Given the description of an element on the screen output the (x, y) to click on. 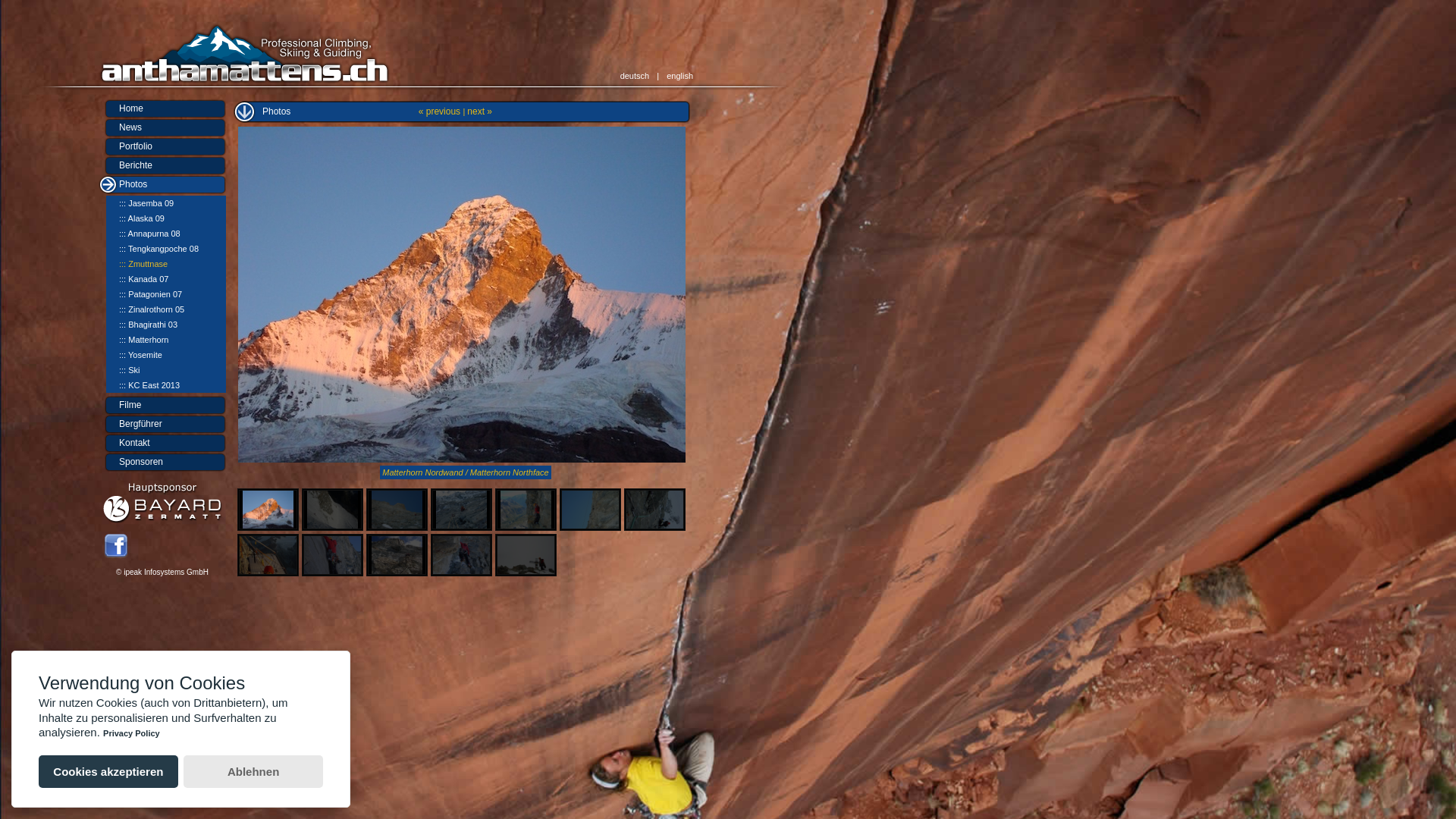
Portfolio Element type: text (125, 146)
Home Element type: text (161, 108)
english Element type: text (679, 75)
::: Kanada 07 Element type: text (133, 278)
Filme Element type: text (161, 404)
::: Annapurna 08 Element type: text (139, 233)
::: Bhagirathi 03 Element type: text (137, 324)
::: Zinalrothorn 05 Element type: text (141, 308)
::: Alaska 09 Element type: text (131, 217)
Berichte Element type: text (125, 165)
::: Jasemba 09 Element type: text (135, 202)
Samuel im Vorsteig / Samuel on lead Element type: hover (396, 509)
Home Element type: text (120, 108)
Simon im Vorstieg / Simon on lead Element type: hover (332, 555)
::: Matterhorn Element type: text (133, 339)
::: Tengkangpoche 08 Element type: text (148, 248)
Kontakt Element type: text (124, 442)
Cookies akzeptieren Element type: text (108, 771)
::: Yosemite Element type: text (130, 354)
Berichte Element type: text (161, 165)
News Element type: text (161, 127)
Zweites Biwak / Second Bivi Element type: hover (267, 555)
::: Ski Element type: text (119, 369)
Privacy Policy Element type: text (131, 732)
Photos Element type: text (122, 183)
::: Zmuttnase Element type: text (132, 263)
Next image >> Element type: hover (461, 294)
::: KC East 2013 Element type: text (138, 384)
Filme Element type: text (119, 404)
Portfolio Element type: text (161, 146)
Ablehnen Element type: text (253, 771)
Sponsoren Element type: text (161, 461)
News Element type: text (119, 127)
deutsch Element type: text (634, 75)
Sponsoren Element type: text (130, 461)
Kontakt Element type: text (161, 442)
::: Patagonien 07 Element type: text (140, 293)
Einstieg / First ice field Element type: hover (332, 509)
Matterhorn Nordwand / Matterhorn Northface Element type: hover (267, 509)
Gipfel / Summit Element type: hover (525, 555)
